Given the description of an element on the screen output the (x, y) to click on. 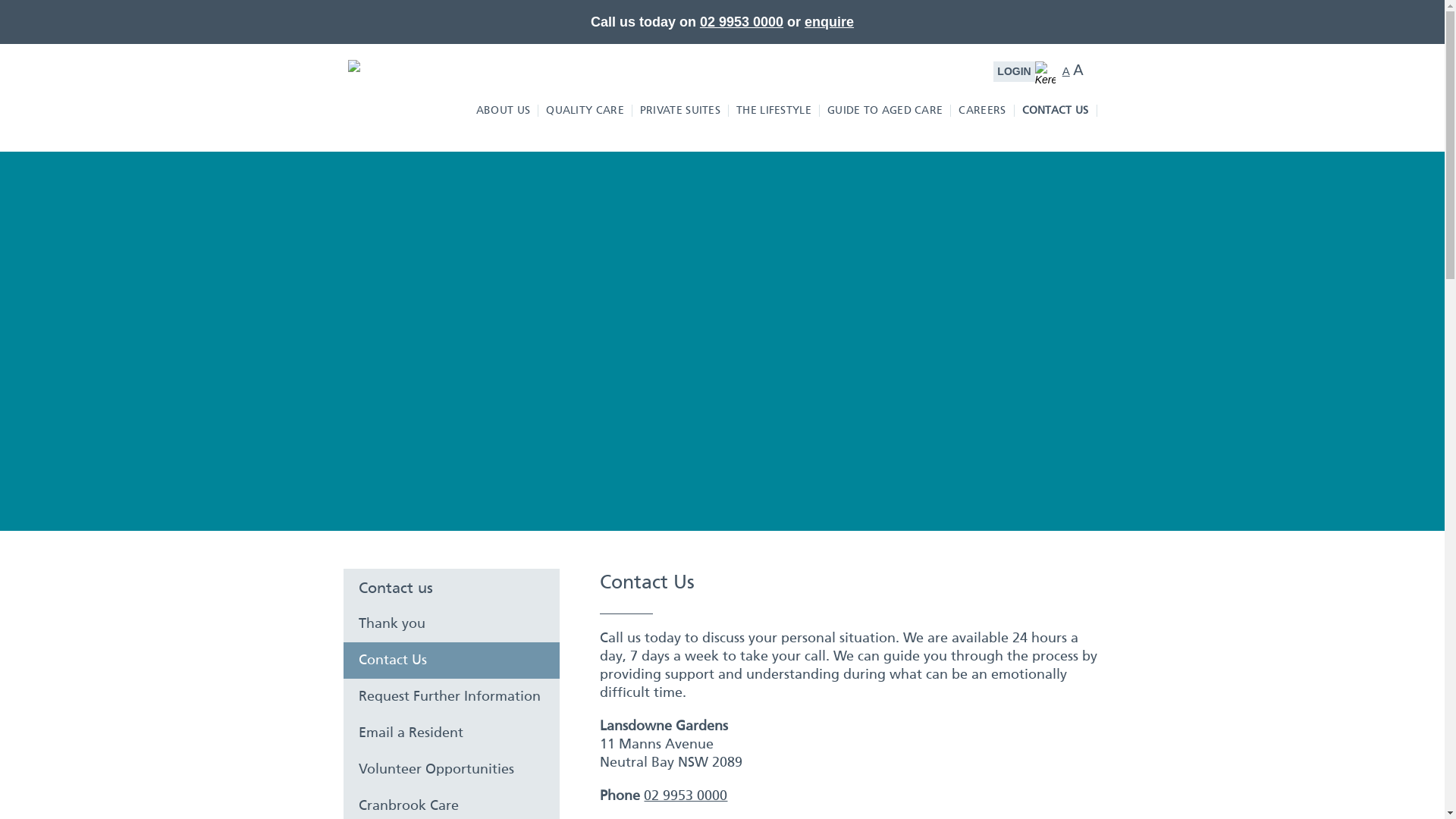
CONTACT US Element type: text (1055, 110)
A Element type: text (1077, 69)
Volunteer Opportunities Element type: text (450, 769)
GUIDE TO AGED CARE Element type: text (884, 110)
02 9953 0000 Element type: text (741, 21)
A Element type: text (1066, 70)
Request Further Information Element type: text (450, 696)
PRIVATE SUITES Element type: text (680, 110)
LOGIN Element type: text (1013, 71)
THE LIFESTYLE Element type: text (773, 110)
Email a Resident Element type: text (450, 733)
02 9953 0000 Element type: text (685, 796)
enquire Element type: text (828, 21)
QUALITY CARE Element type: text (585, 110)
Thank you Element type: text (450, 623)
ABOUT US Element type: text (503, 110)
CAREERS Element type: text (981, 110)
Contact Us Element type: text (450, 660)
